Given the description of an element on the screen output the (x, y) to click on. 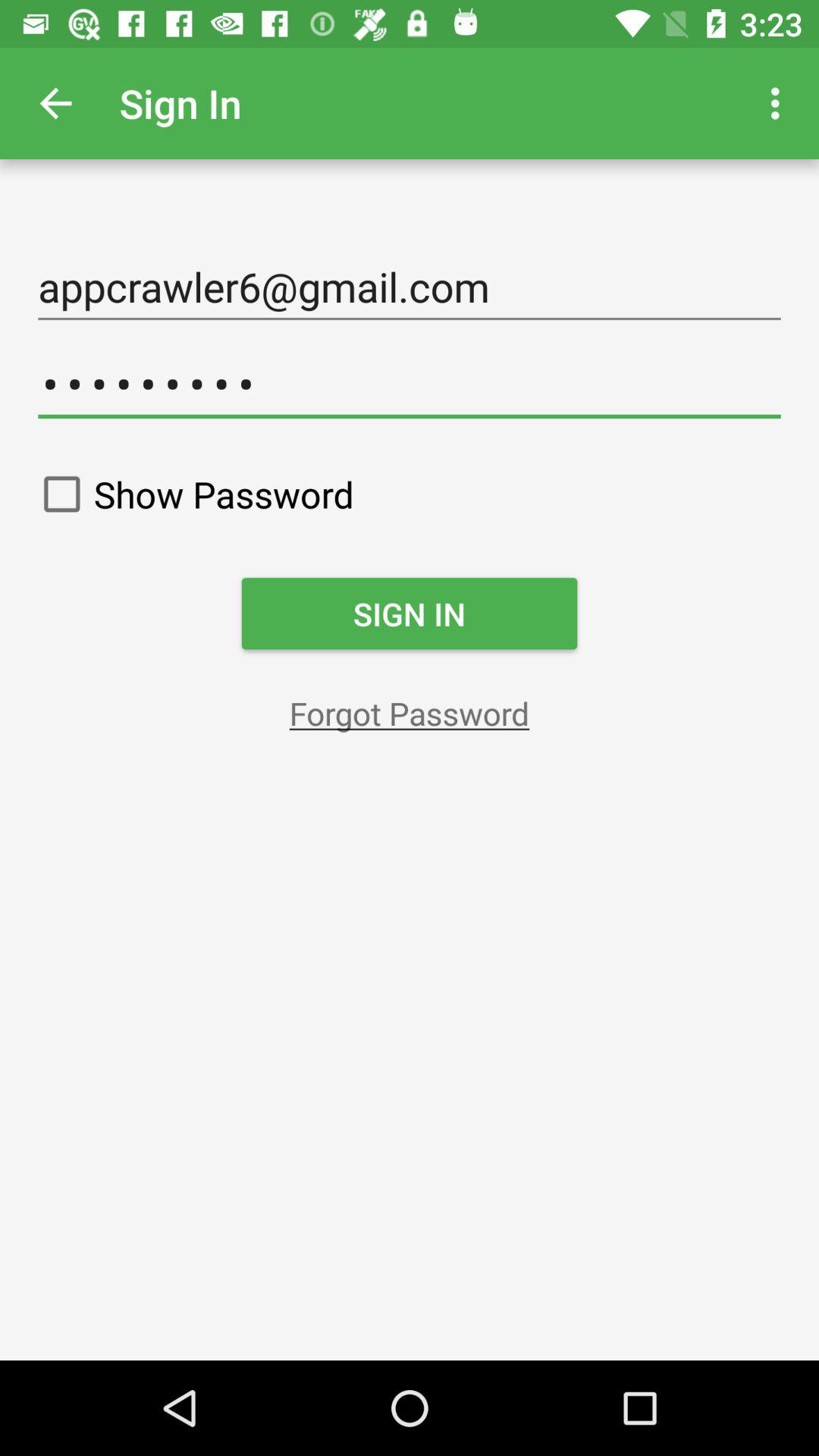
click item above the appcrawler6@gmail.com item (55, 103)
